Given the description of an element on the screen output the (x, y) to click on. 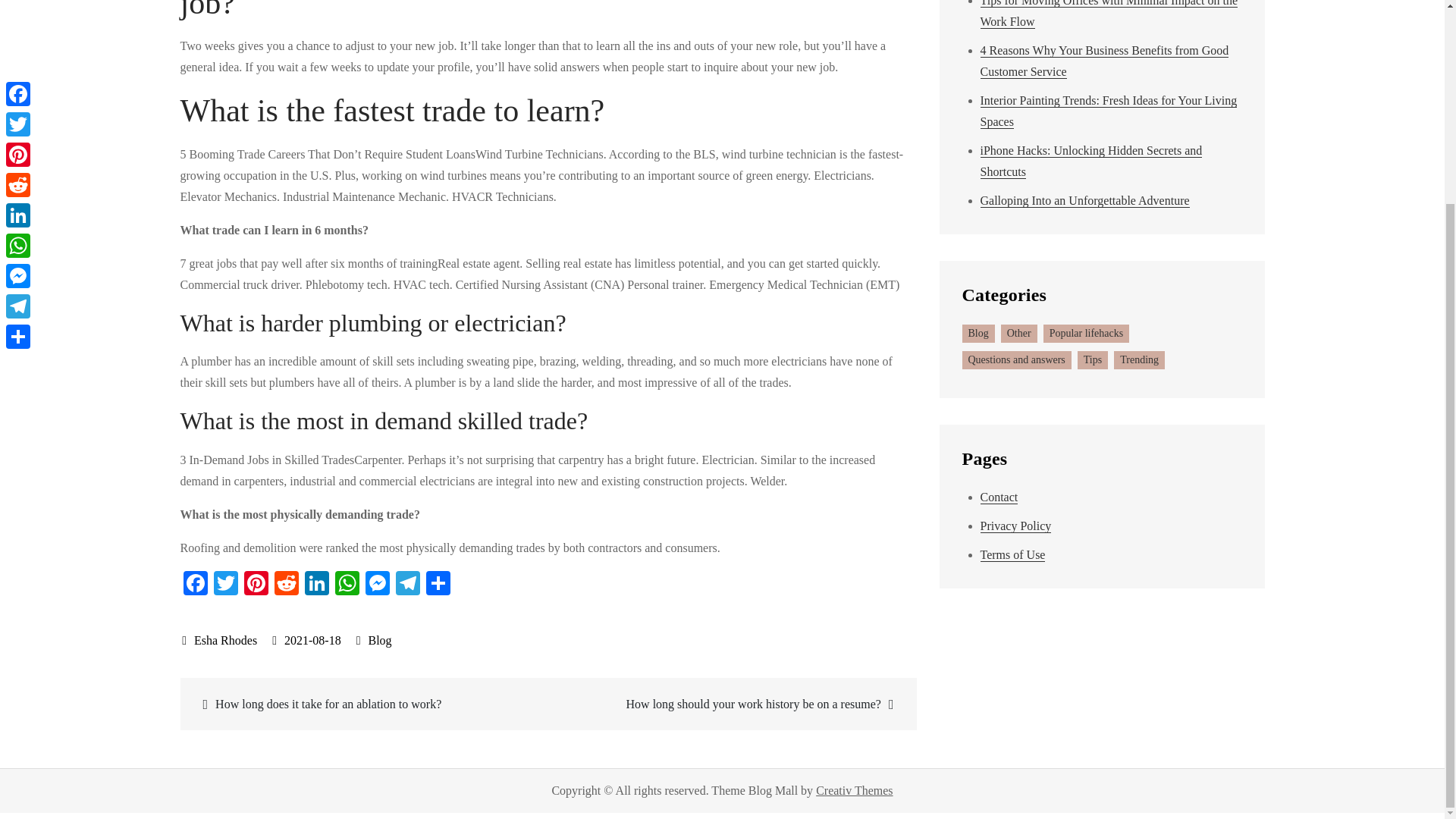
Twitter (226, 584)
Contact (998, 497)
Trending (1138, 360)
Interior Painting Trends: Fresh Ideas for Your Living Spaces (1107, 111)
Popular lifehacks (1086, 333)
Reddit (285, 584)
LinkedIn (316, 584)
Telegram (408, 584)
Esha Rhodes (219, 640)
Other (1018, 333)
Messenger (377, 584)
Facebook (195, 584)
How long should your work history be on a resume? (730, 703)
How long does it take for an ablation to work? (366, 703)
Terms of Use (1012, 554)
